Given the description of an element on the screen output the (x, y) to click on. 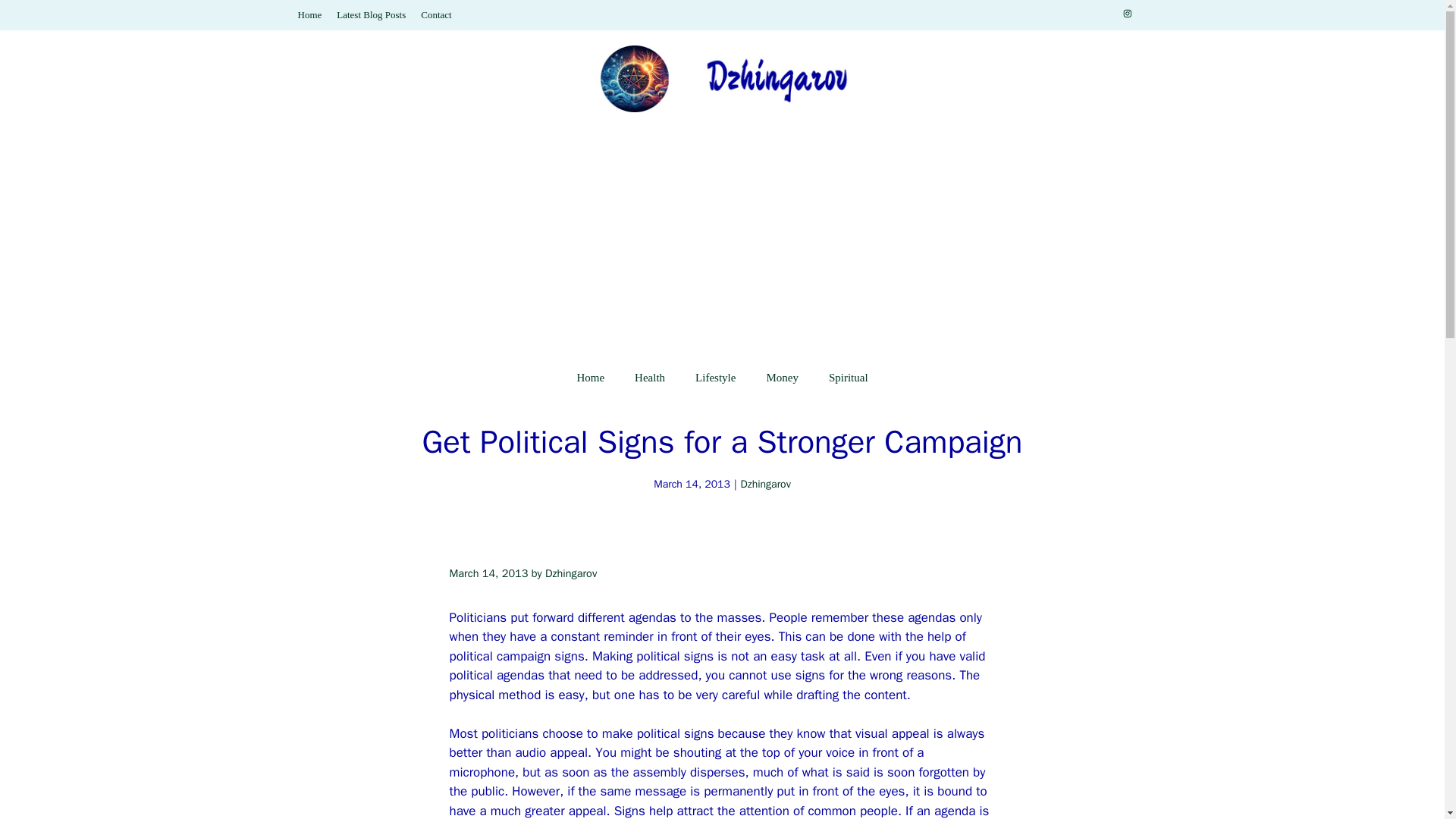
Contact (435, 14)
Spiritual (848, 377)
Dzhingarov (570, 572)
Health (649, 377)
Home (590, 377)
Money (782, 377)
Dzhingarov (765, 483)
View all posts by Dzhingarov (570, 572)
Lifestyle (715, 377)
Home (309, 14)
Latest Blog Posts (371, 14)
